Given the description of an element on the screen output the (x, y) to click on. 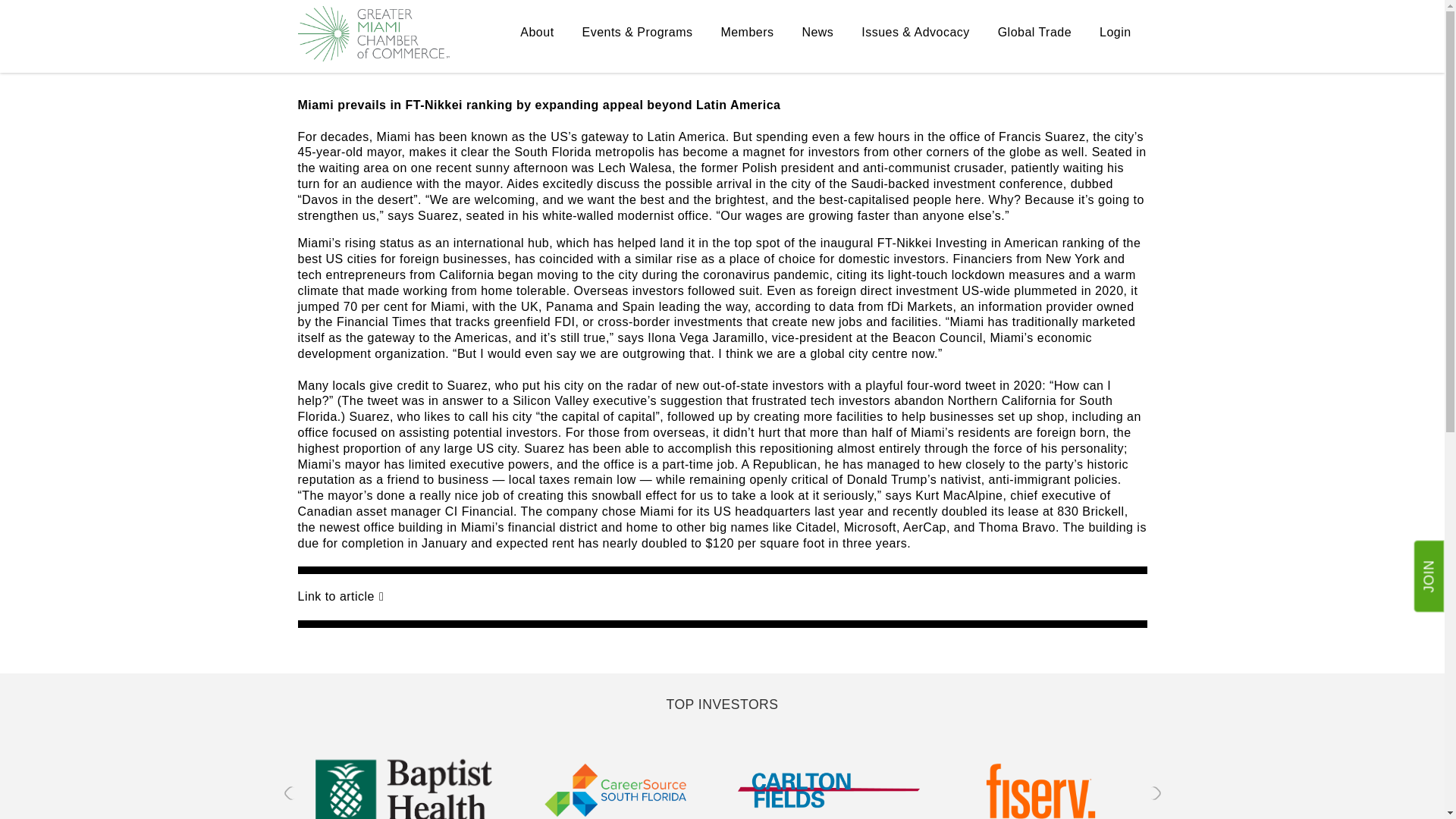
Home (372, 33)
